Given the description of an element on the screen output the (x, y) to click on. 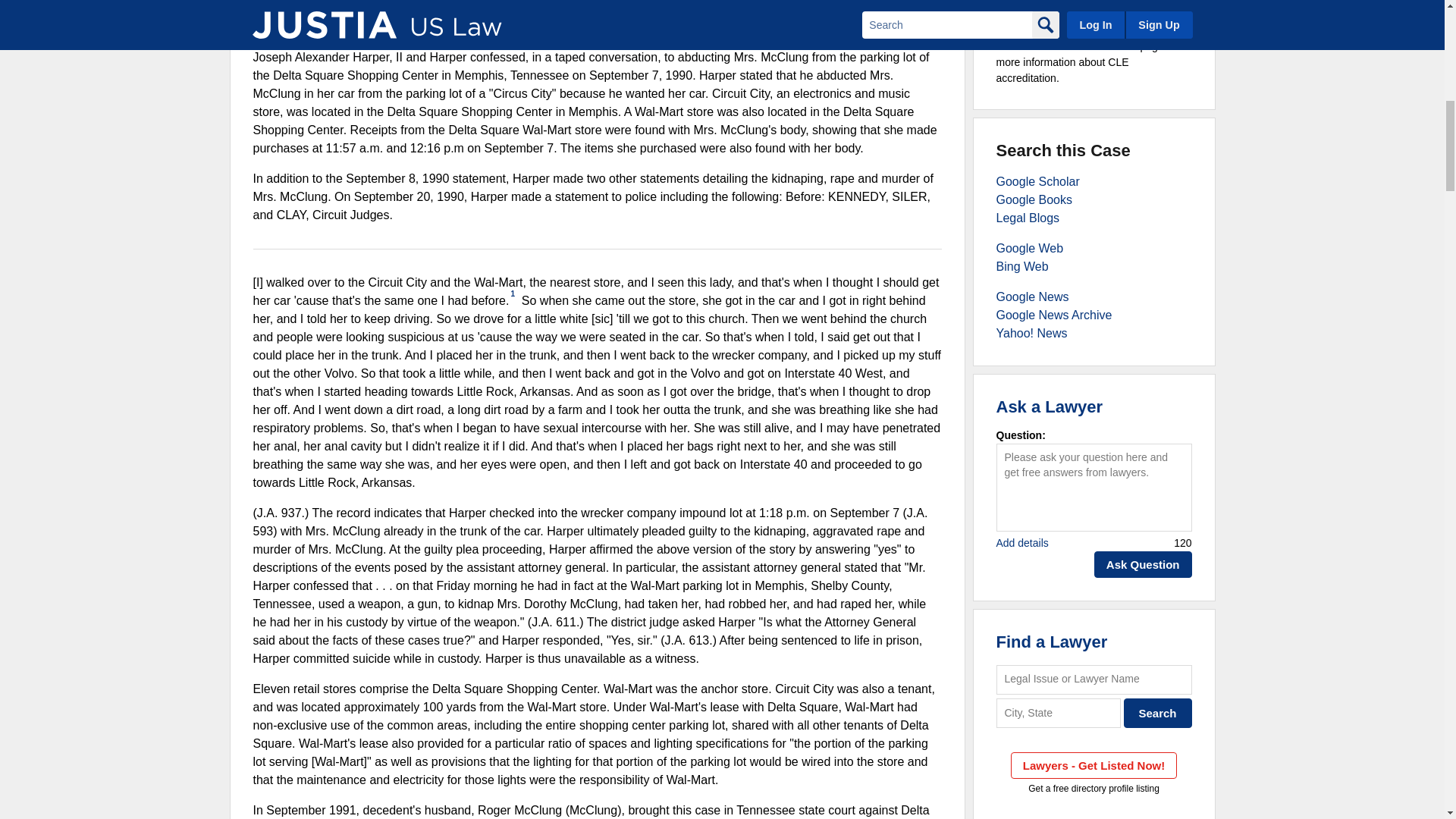
Legal Issue or Lawyer Name (1093, 679)
City, State (1058, 713)
Law - Bing Web (1021, 266)
Law - Yahoo! News (1031, 332)
Search (1158, 713)
Law - Google Books (1034, 199)
Law - Google News Archive (1053, 314)
Search (1158, 713)
Law - Legal Blogs (1027, 217)
1 (513, 293)
Law - Google Scholar (1037, 181)
Law - Google Web (1029, 247)
Law - Google News (1031, 296)
